Given the description of an element on the screen output the (x, y) to click on. 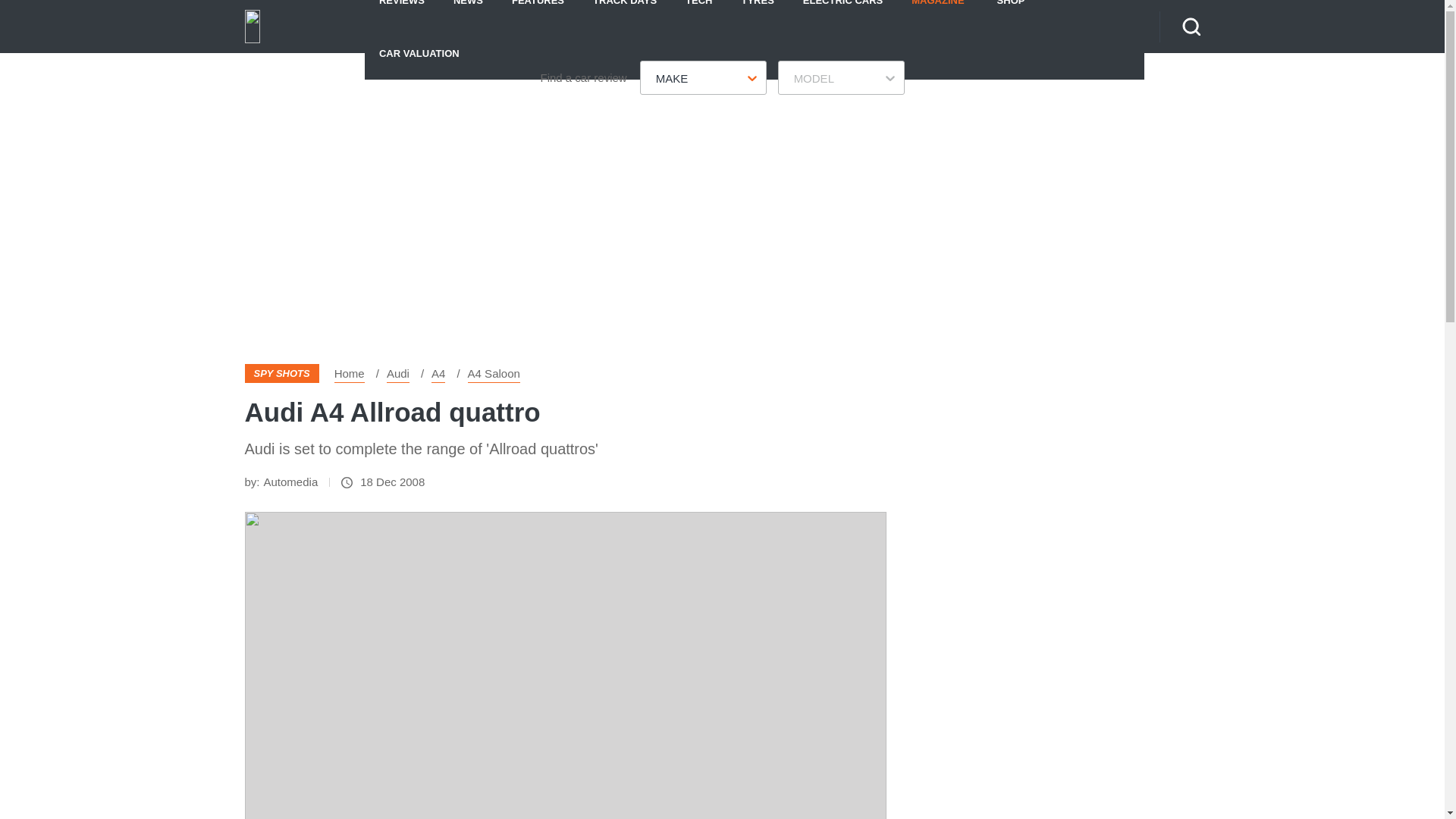
NEWS (468, 13)
CAR VALUATION (419, 52)
TRACK DAYS (624, 13)
SHOP (1010, 13)
TYRES (756, 13)
ELECTRIC CARS (842, 13)
FEATURES (537, 13)
TECH (698, 13)
REVIEWS (402, 13)
MAGAZINE (937, 13)
Search (1189, 26)
